Given the description of an element on the screen output the (x, y) to click on. 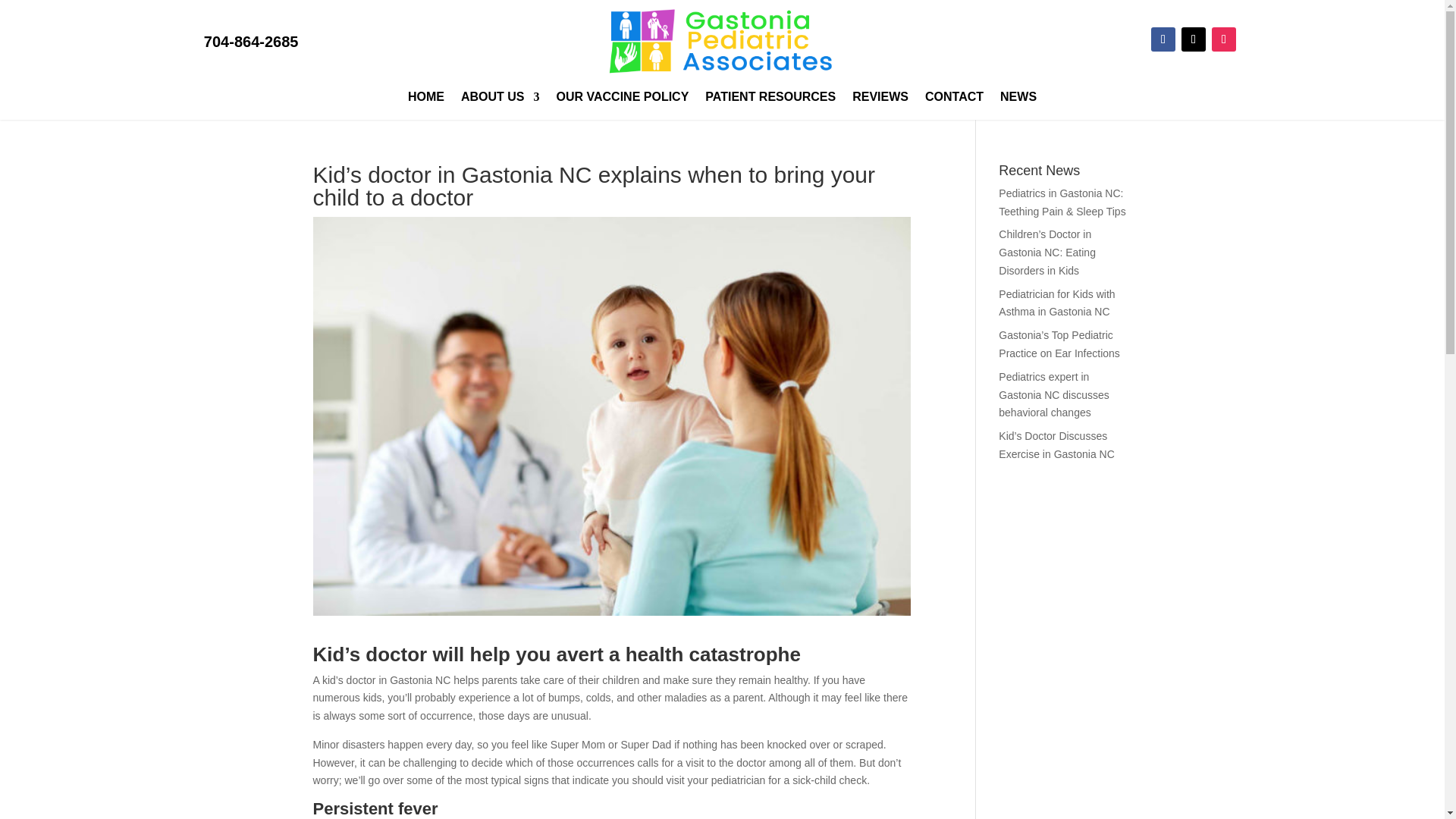
REVIEWS (879, 99)
NEWS (1018, 99)
Follow on Instagram (1223, 39)
PATIENT RESOURCES (769, 99)
Pediatrician for Kids with Asthma in Gastonia NC (1056, 303)
ABOUT US (500, 99)
Follow on Facebook (1162, 39)
OUR VACCINE POLICY (622, 99)
gastonia ped logo (721, 42)
HOME (425, 99)
CONTACT (954, 99)
704-864-2685 (250, 41)
Follow on X (1192, 39)
